Given the description of an element on the screen output the (x, y) to click on. 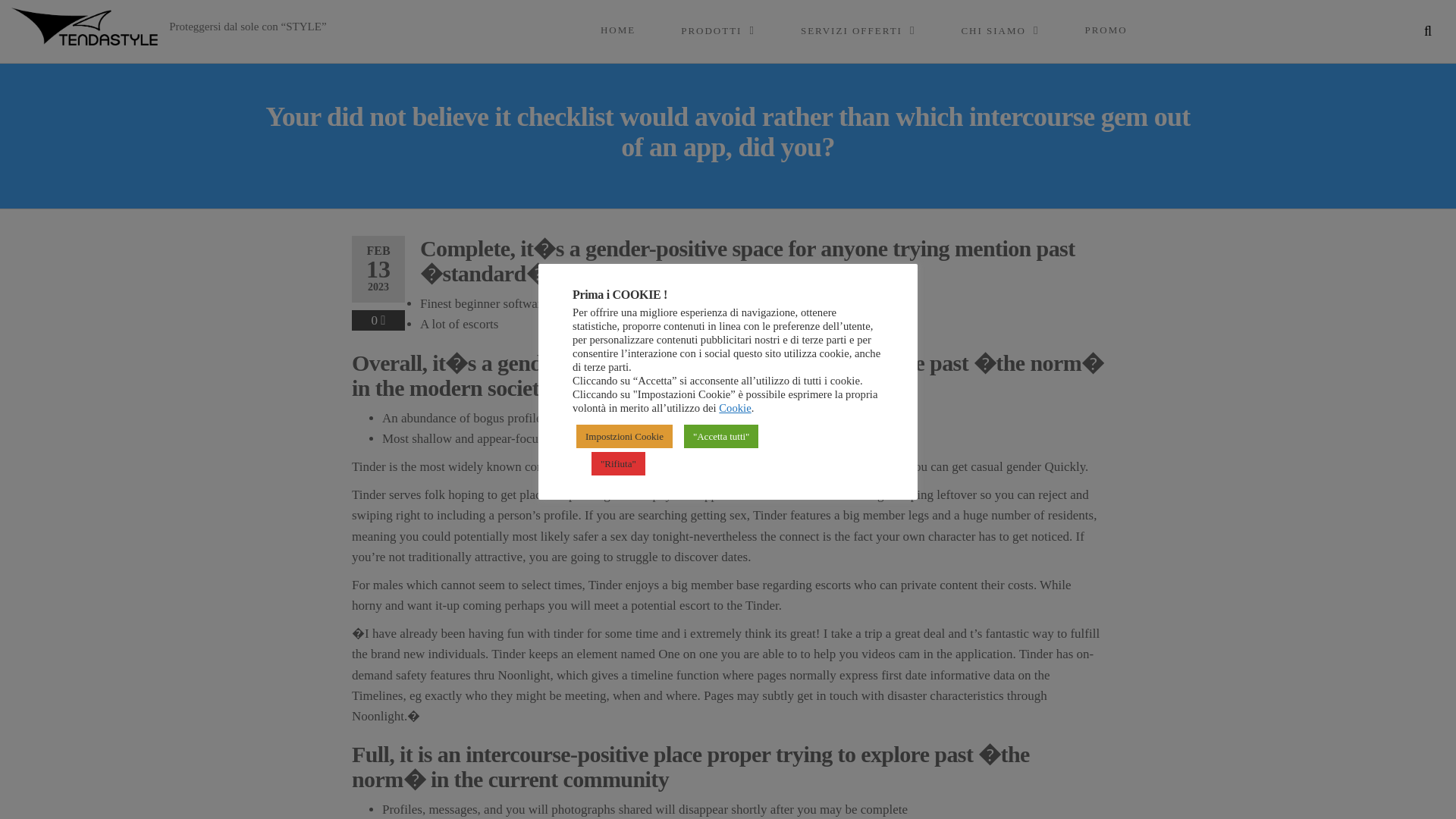
SERVIZI OFFERTI (857, 30)
HOME (618, 30)
Servizi Offerti (857, 30)
PROMO (1105, 30)
PRODOTTI (717, 30)
Home (618, 30)
CHI SIAMO (999, 30)
Prodotti (717, 30)
